Given the description of an element on the screen output the (x, y) to click on. 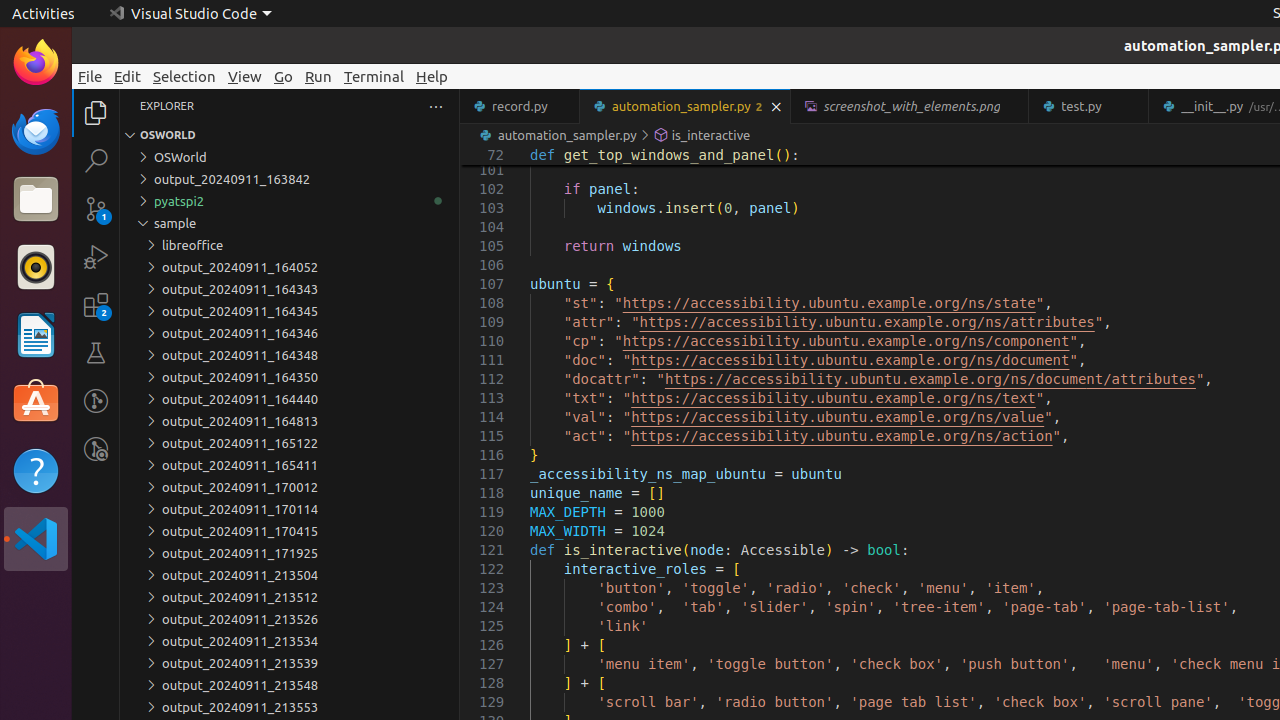
output_20240911_164052 Element type: tree-item (289, 267)
output_20240911_164350 Element type: tree-item (289, 377)
screenshot_with_elements.png, preview Element type: page-tab (910, 106)
output_20240911_170415 Element type: tree-item (289, 531)
output_20240911_163842 Element type: tree-item (289, 179)
